Given the description of an element on the screen output the (x, y) to click on. 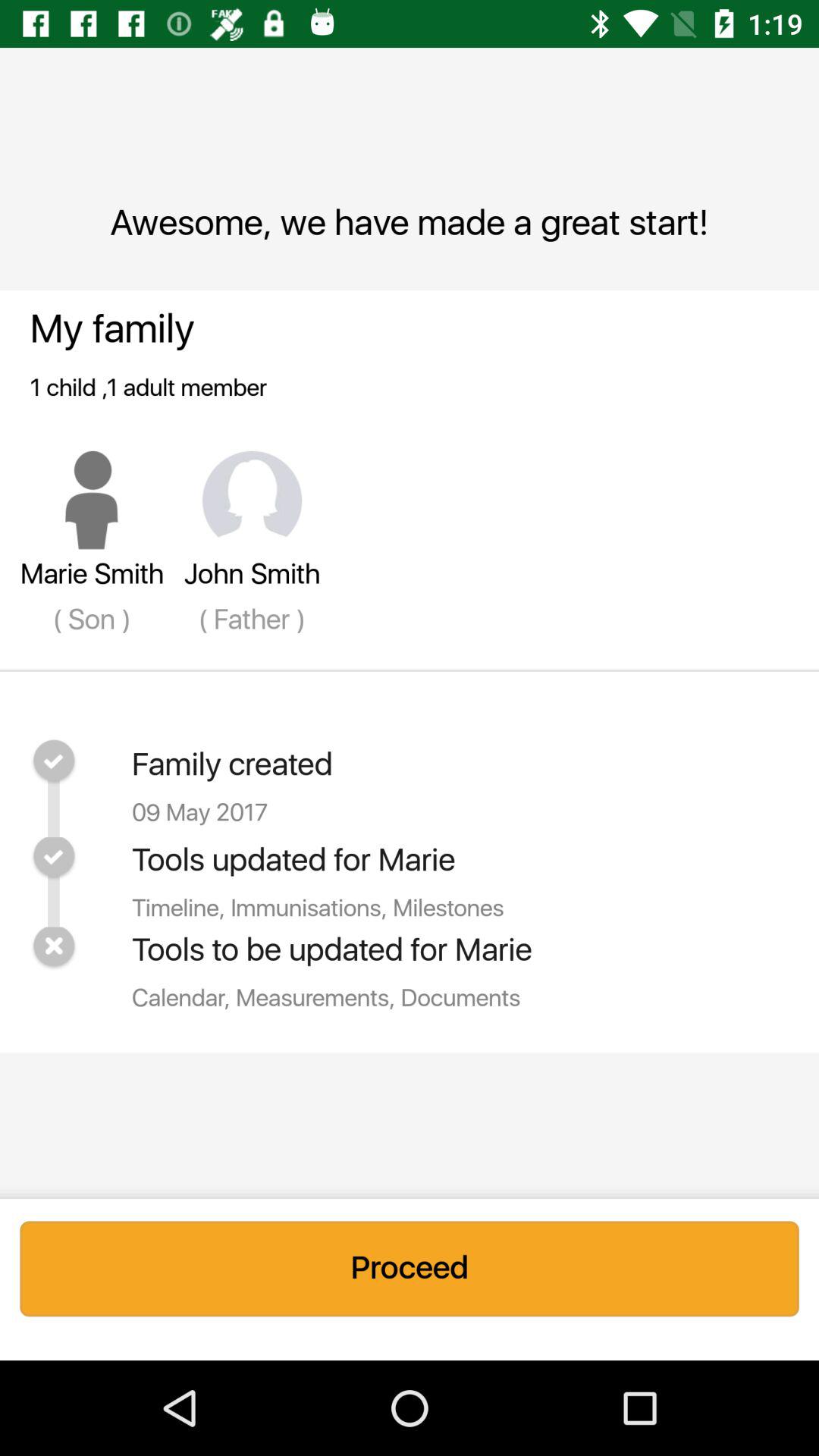
jump until the proceed icon (409, 1268)
